Given the description of an element on the screen output the (x, y) to click on. 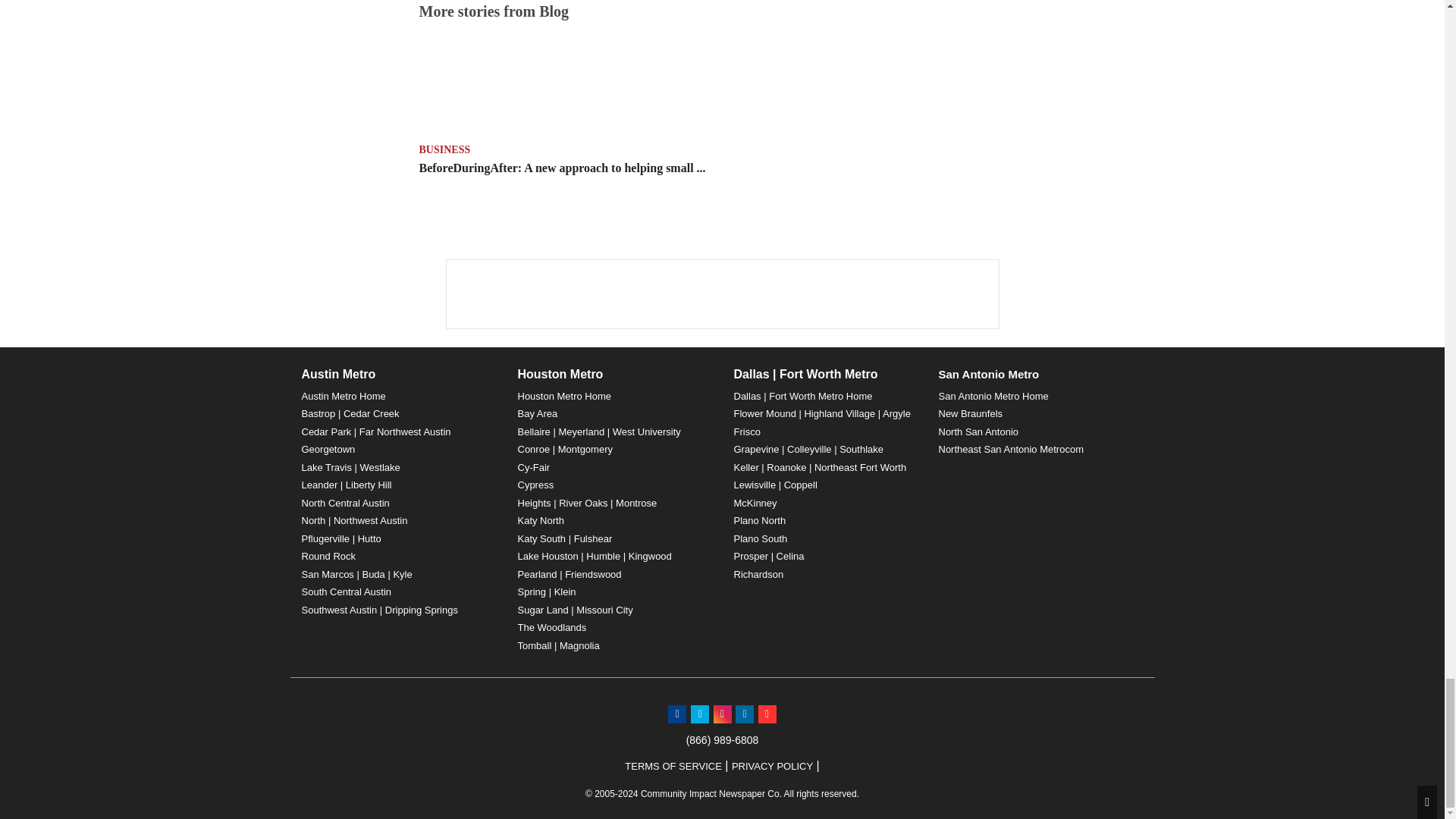
3rd party ad content (721, 294)
